Given the description of an element on the screen output the (x, y) to click on. 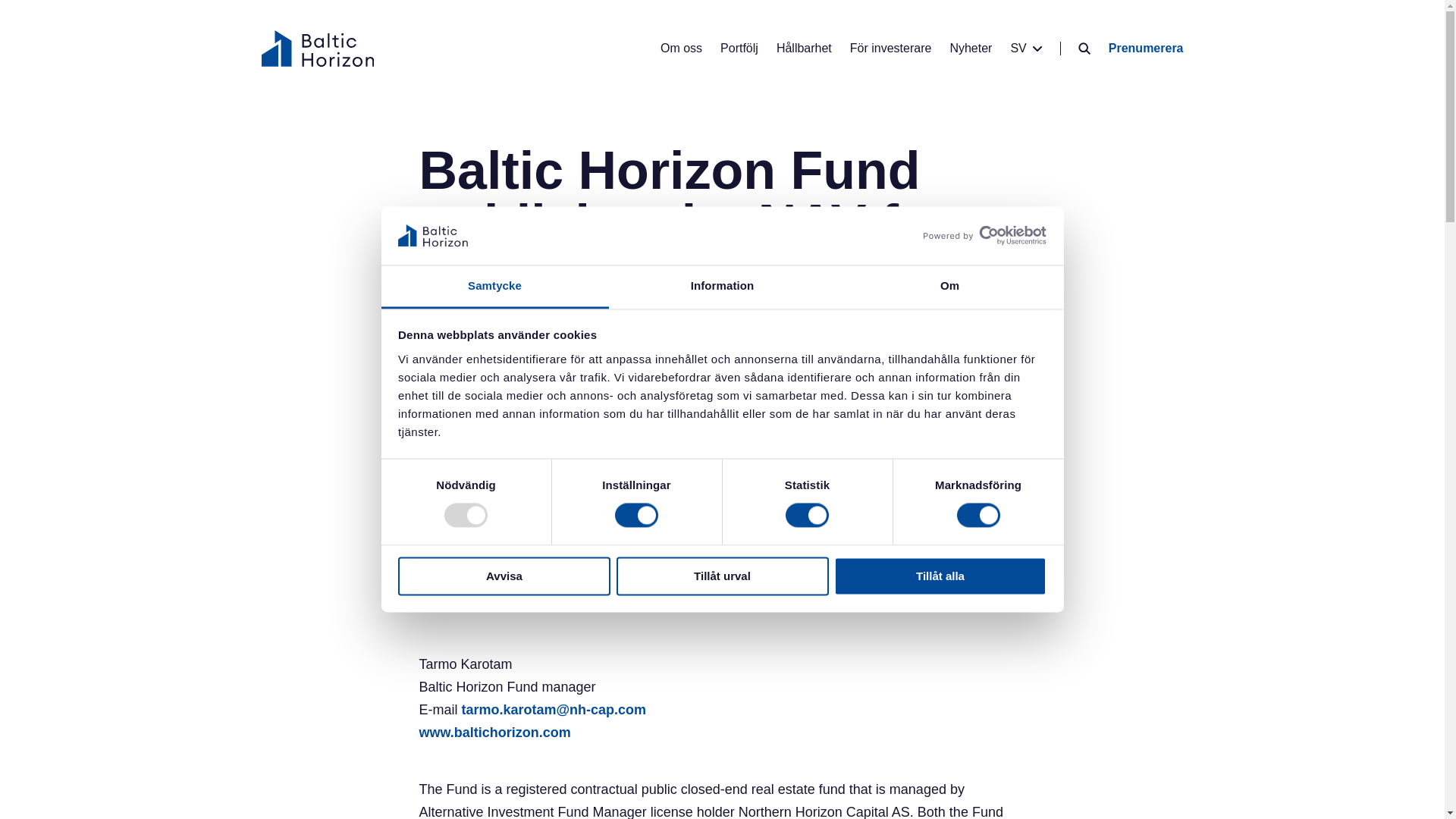
Samtycke (494, 286)
Om (948, 286)
Information (721, 286)
